Given the description of an element on the screen output the (x, y) to click on. 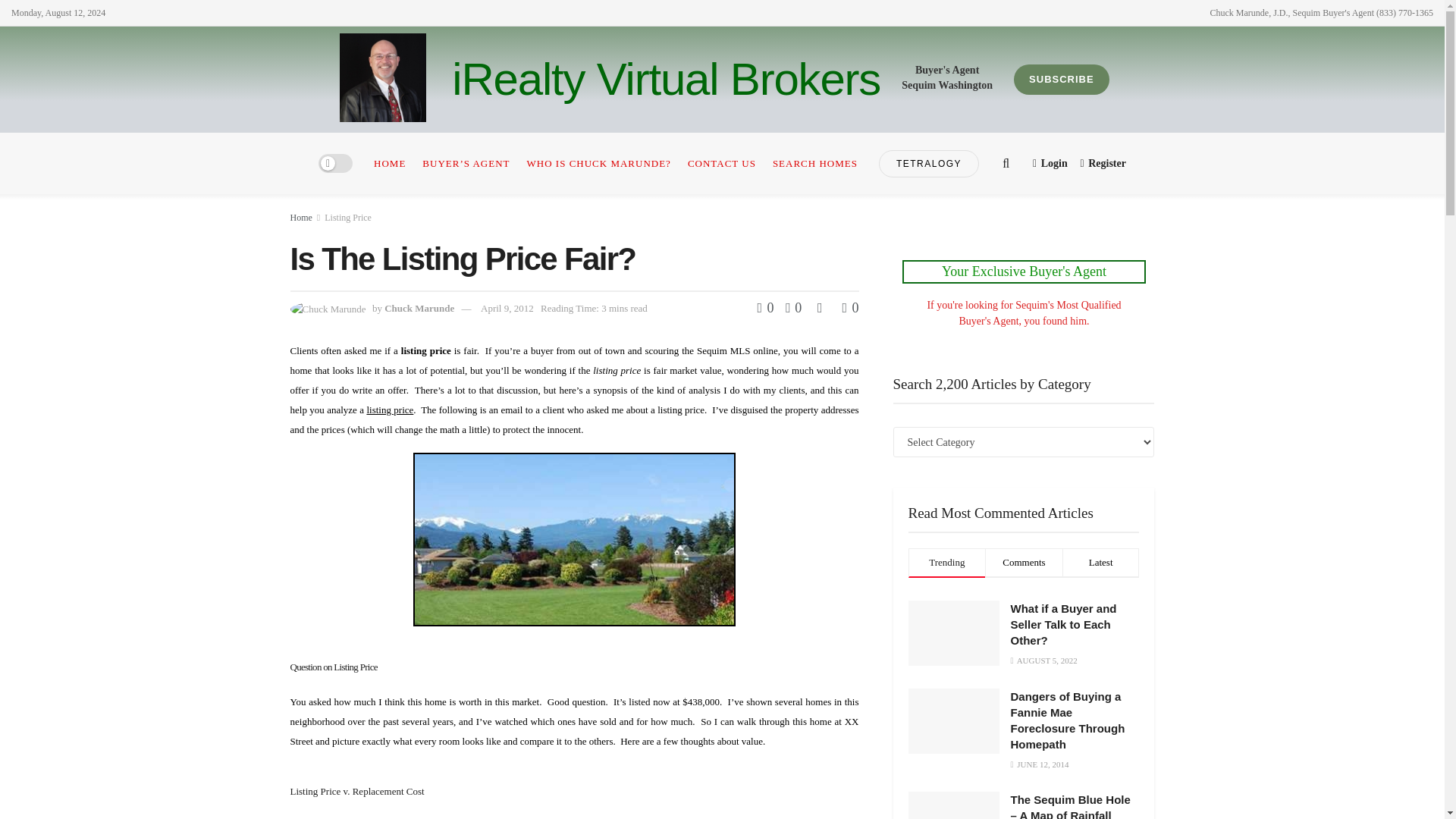
SUBSCRIBE (1061, 79)
0 (789, 307)
April 9, 2012 (507, 307)
Home (300, 217)
TETRALOGY (928, 163)
Listing Price (347, 217)
iRealty Virtual Brokers (665, 79)
CONTACT US (721, 163)
Contact Chuck Marunde RE Blog (1023, 273)
Chuck Marunde (419, 307)
